Given the description of an element on the screen output the (x, y) to click on. 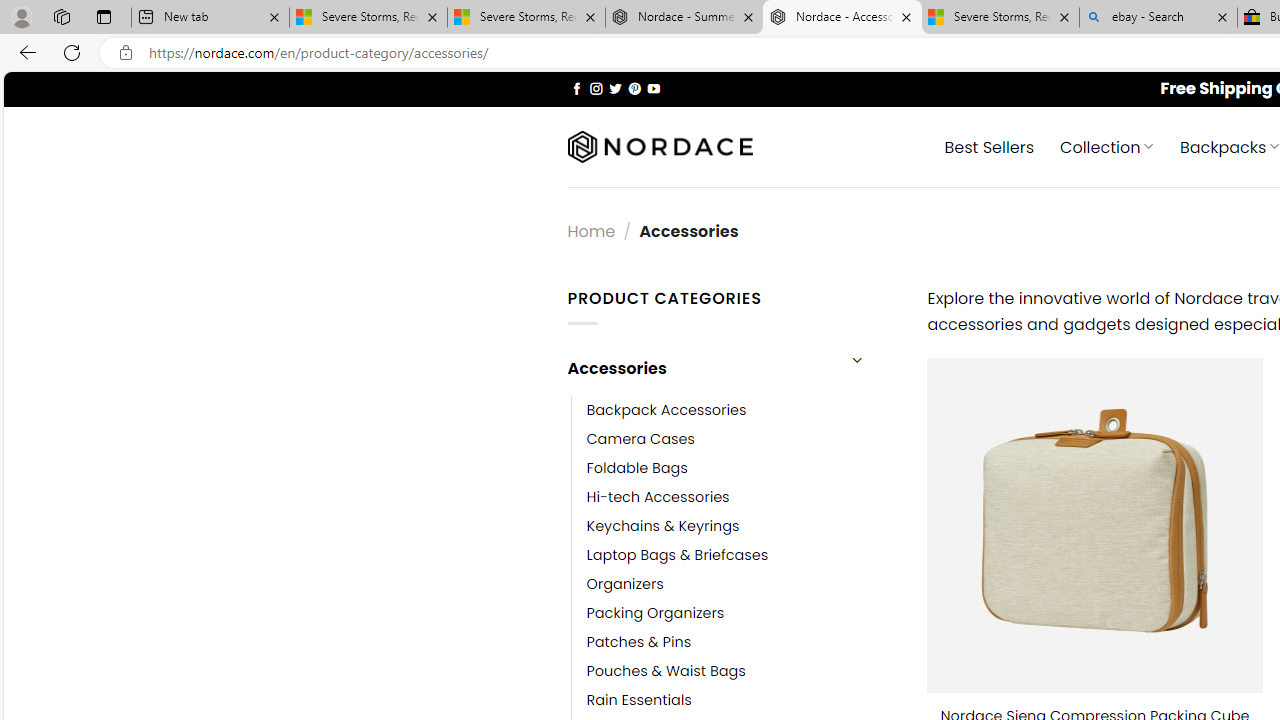
Follow on Pinterest (634, 88)
Accessories (700, 368)
Keychains & Keyrings (742, 526)
Nordace - Summer Adventures 2024 (683, 17)
Hi-tech Accessories (657, 496)
  Best Sellers (989, 146)
Patches & Pins (639, 642)
Laptop Bags & Briefcases (677, 555)
Hi-tech Accessories (742, 496)
Home (591, 230)
Pouches & Waist Bags (666, 671)
